Given the description of an element on the screen output the (x, y) to click on. 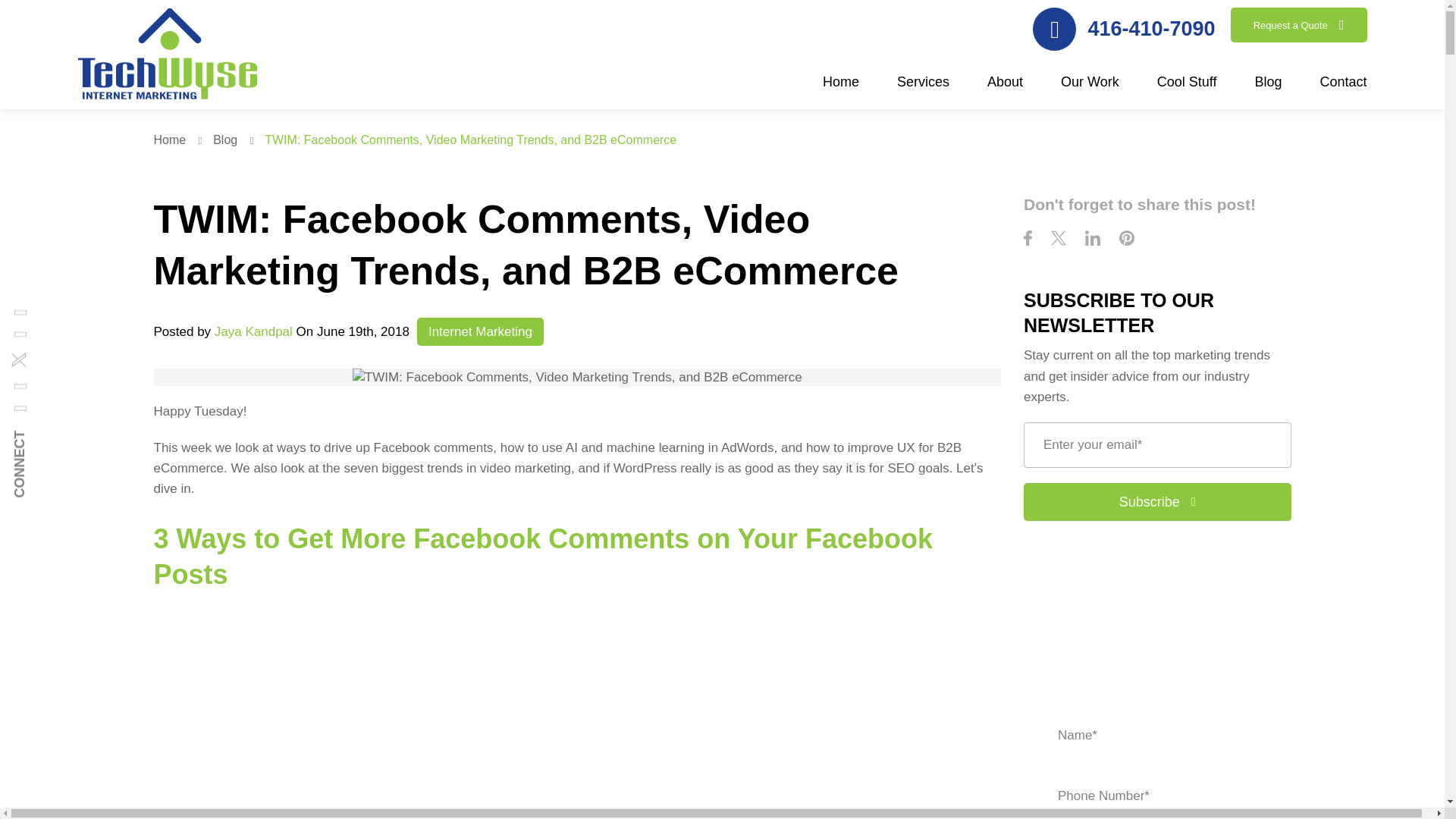
Blog (236, 139)
416-410-7090 (1123, 28)
Posts by Jaya Kandpal (253, 331)
email (1157, 444)
Internet Marketing (479, 331)
Services (922, 90)
TechWyse Internet Marketing Toronto (166, 56)
About (1005, 90)
Home (180, 139)
Request a Quote (1298, 24)
